Given the description of an element on the screen output the (x, y) to click on. 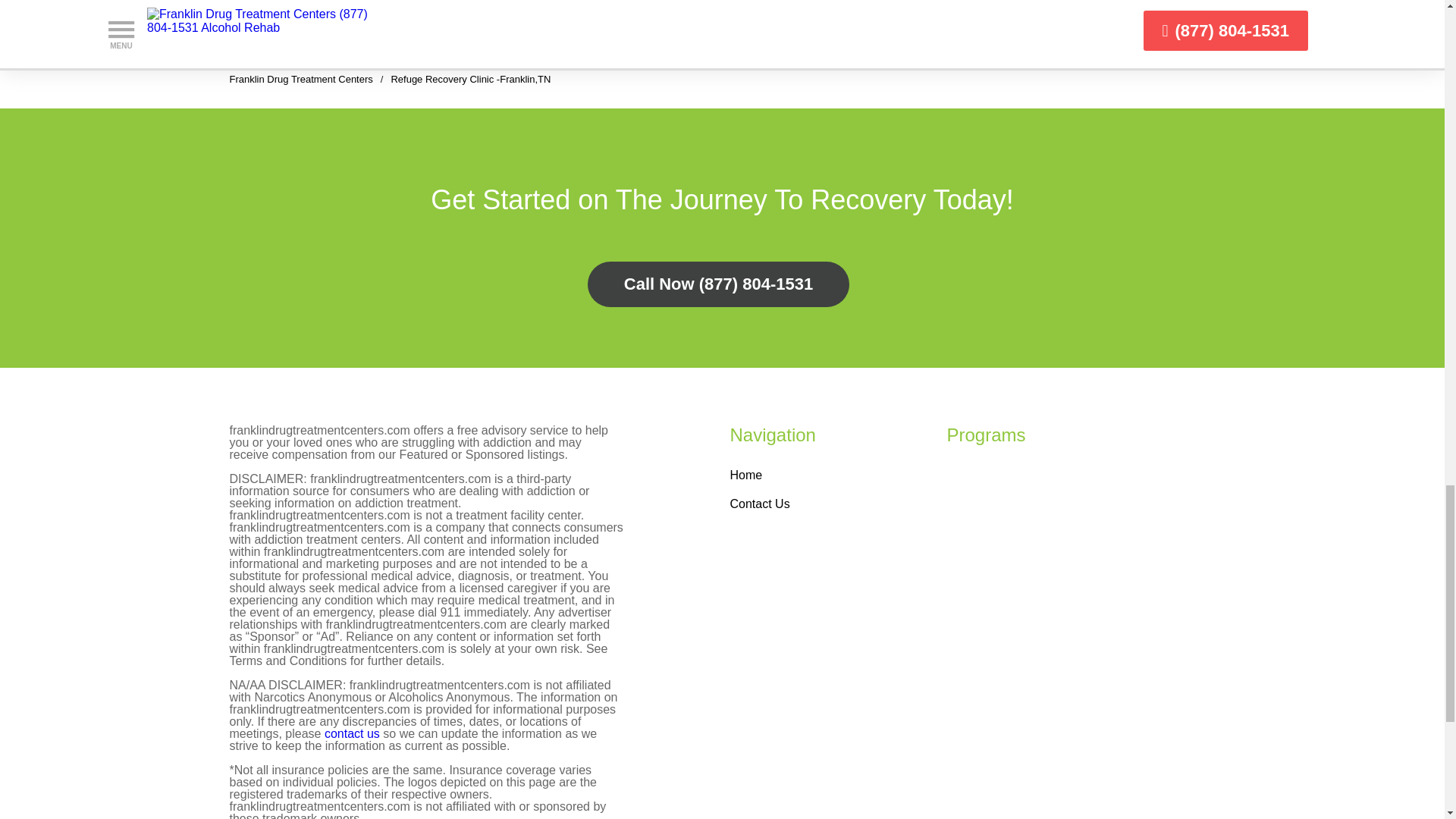
Intervention center (286, 18)
Female (453, 4)
Medicaid (650, 18)
Male (446, 18)
Home (745, 474)
Private (644, 4)
Visa (510, 4)
Addiction (260, 4)
Franklin Drug Treatment Centers (300, 78)
contact us (352, 732)
Adolescents (385, 4)
American Express (548, 18)
Refuge Recovery Clinic -Franklin,TN (470, 78)
Contact Us (759, 503)
Medical Detox (274, 33)
